Given the description of an element on the screen output the (x, y) to click on. 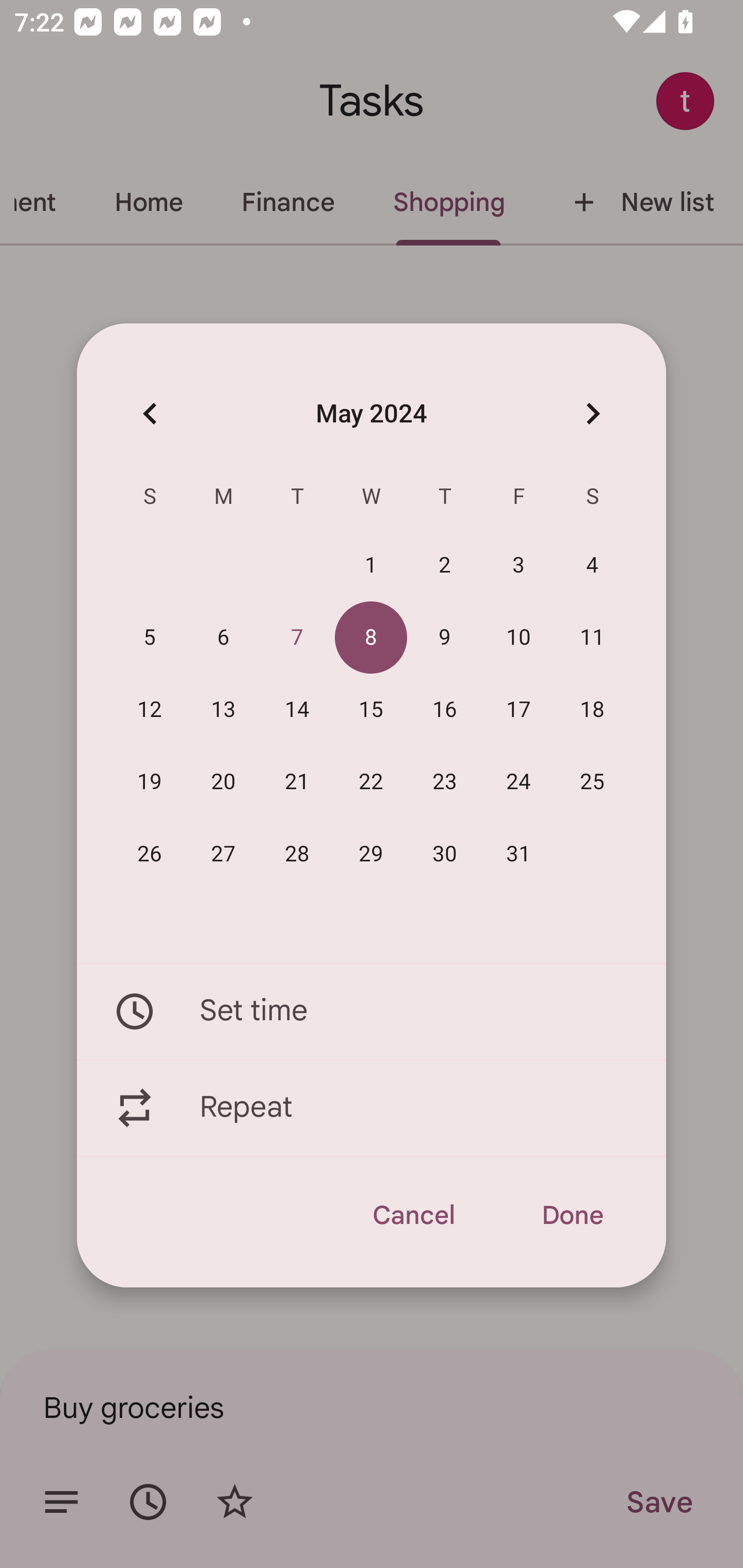
Previous month (149, 413)
Next month (592, 413)
1 01 May 2024 (370, 565)
2 02 May 2024 (444, 565)
3 03 May 2024 (518, 565)
4 04 May 2024 (592, 565)
5 05 May 2024 (149, 638)
6 06 May 2024 (223, 638)
7 07 May 2024 (297, 638)
8 08 May 2024 (370, 638)
9 09 May 2024 (444, 638)
10 10 May 2024 (518, 638)
11 11 May 2024 (592, 638)
12 12 May 2024 (149, 710)
13 13 May 2024 (223, 710)
14 14 May 2024 (297, 710)
15 15 May 2024 (370, 710)
16 16 May 2024 (444, 710)
17 17 May 2024 (518, 710)
18 18 May 2024 (592, 710)
19 19 May 2024 (149, 782)
20 20 May 2024 (223, 782)
21 21 May 2024 (297, 782)
22 22 May 2024 (370, 782)
23 23 May 2024 (444, 782)
24 24 May 2024 (518, 782)
25 25 May 2024 (592, 782)
26 26 May 2024 (149, 854)
27 27 May 2024 (223, 854)
28 28 May 2024 (297, 854)
29 29 May 2024 (370, 854)
30 30 May 2024 (444, 854)
31 31 May 2024 (518, 854)
Set time (371, 1011)
Repeat (371, 1108)
Cancel (412, 1215)
Done (571, 1215)
